Given the description of an element on the screen output the (x, y) to click on. 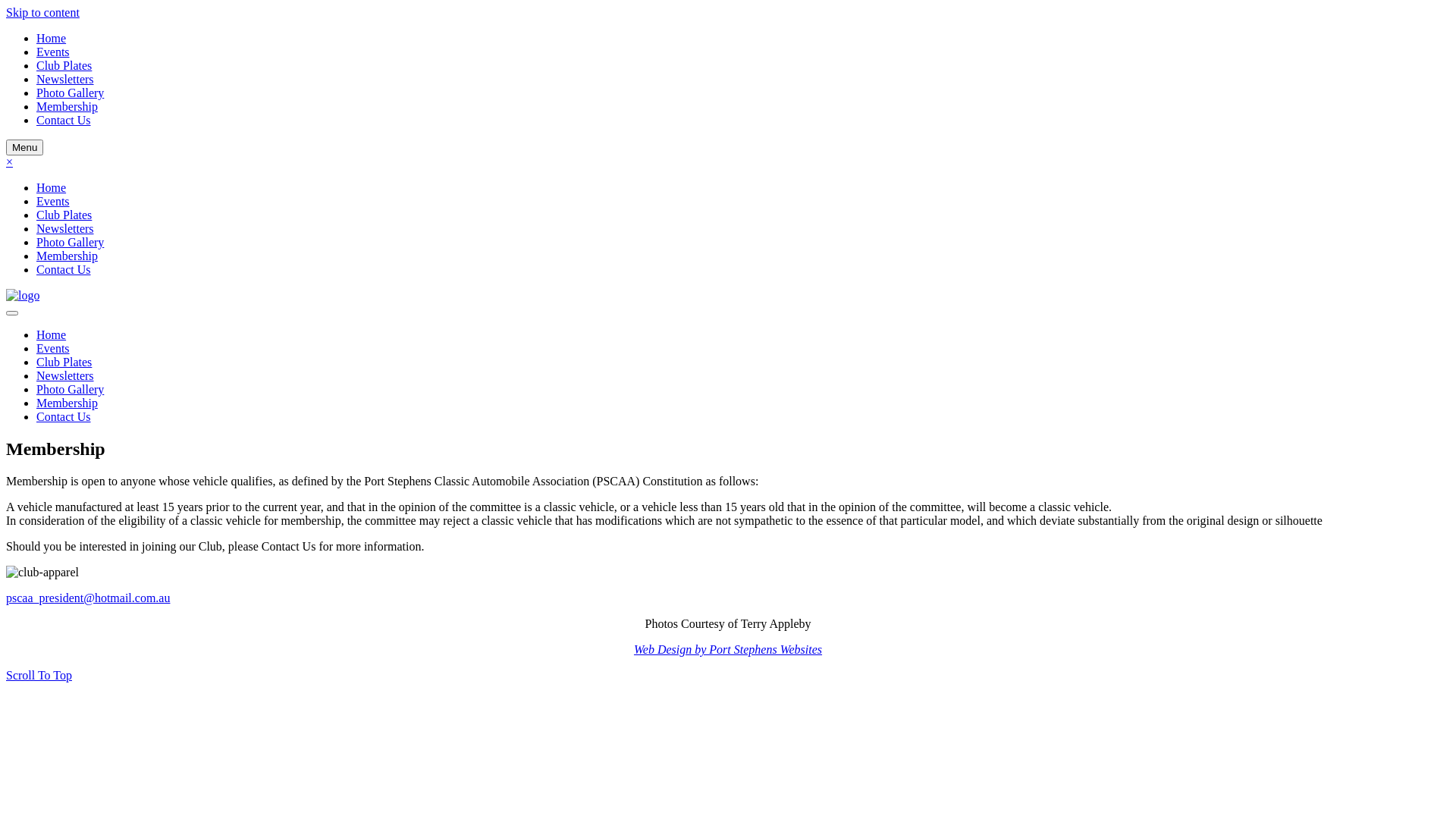
Newsletters Element type: text (65, 78)
Contact Us Element type: text (63, 269)
Photo Gallery Element type: text (69, 388)
Membership Element type: text (66, 255)
Home Element type: text (50, 334)
Home Element type: text (50, 187)
Home Element type: text (50, 37)
club-apparel Element type: hover (42, 572)
Skip to content Element type: text (42, 12)
Club Plates Element type: text (63, 65)
Contact Us Element type: text (63, 416)
Events Element type: text (52, 51)
Web Design by Port Stephens Websites Element type: text (727, 649)
Membership Element type: text (66, 402)
Photo Gallery Element type: text (69, 241)
Menu Element type: text (24, 147)
Events Element type: text (52, 348)
logo Element type: hover (22, 295)
Scroll To Top Element type: text (39, 674)
Photo Gallery Element type: text (69, 92)
Club Plates Element type: text (63, 361)
pscaa_president@hotmail.com.au Element type: text (727, 598)
Membership Element type: text (66, 106)
Newsletters Element type: text (65, 228)
Contact Us Element type: text (63, 119)
Newsletters Element type: text (65, 375)
Events Element type: text (52, 200)
Club Plates Element type: text (63, 214)
